Given the description of an element on the screen output the (x, y) to click on. 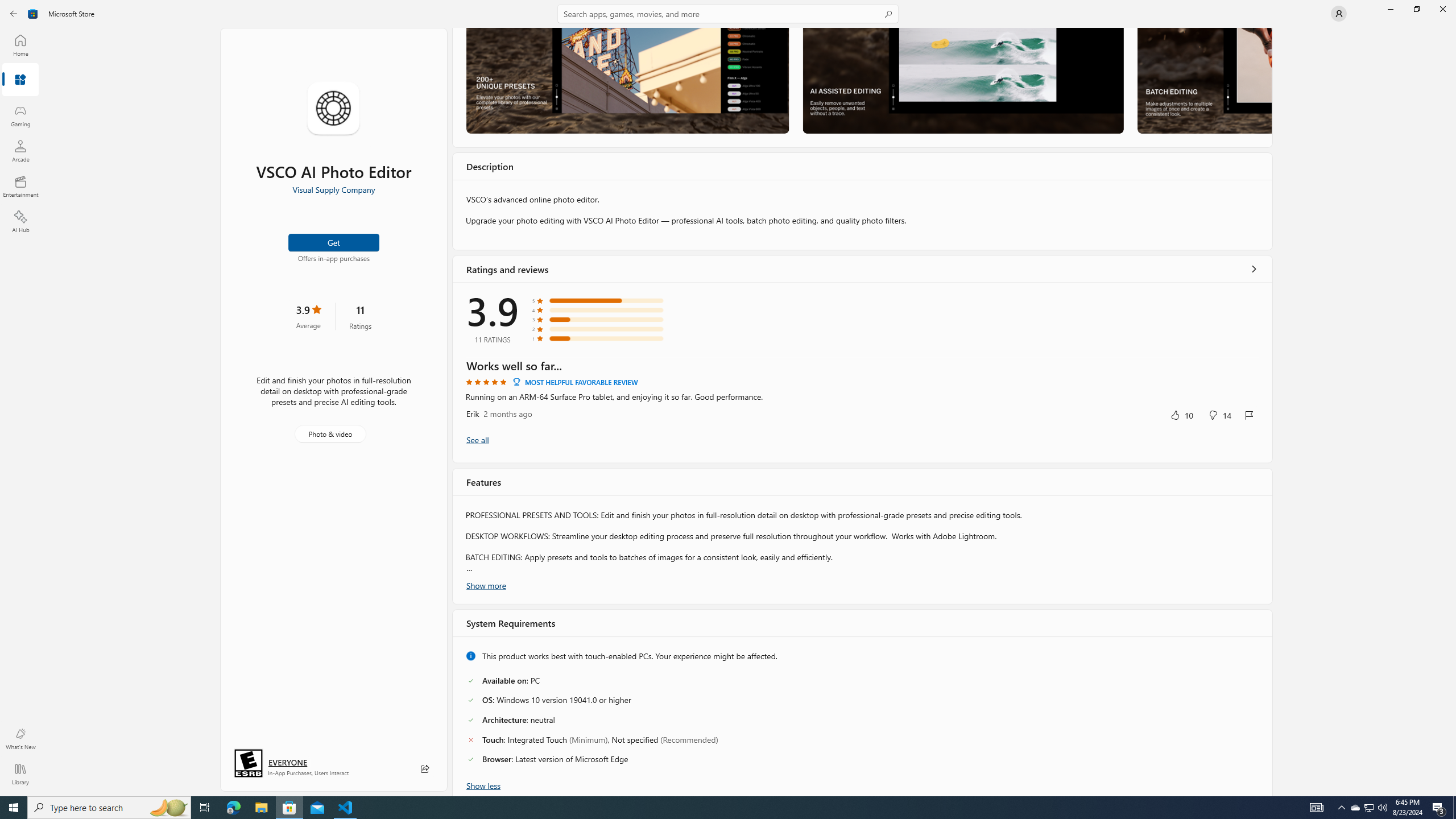
Show less (482, 784)
Share (424, 769)
Age rating: EVERYONE. Click for more information. (287, 762)
Screenshot 3 (1204, 80)
Report review (1248, 415)
Photo & video (329, 434)
3.9 stars. Click to skip to ratings and reviews (307, 315)
Show all ratings and reviews (1253, 268)
Yes, this was helpful. 10 votes. (1181, 414)
Get (334, 241)
Screenshot 2 (962, 80)
Screenshot 1 (627, 80)
